Given the description of an element on the screen output the (x, y) to click on. 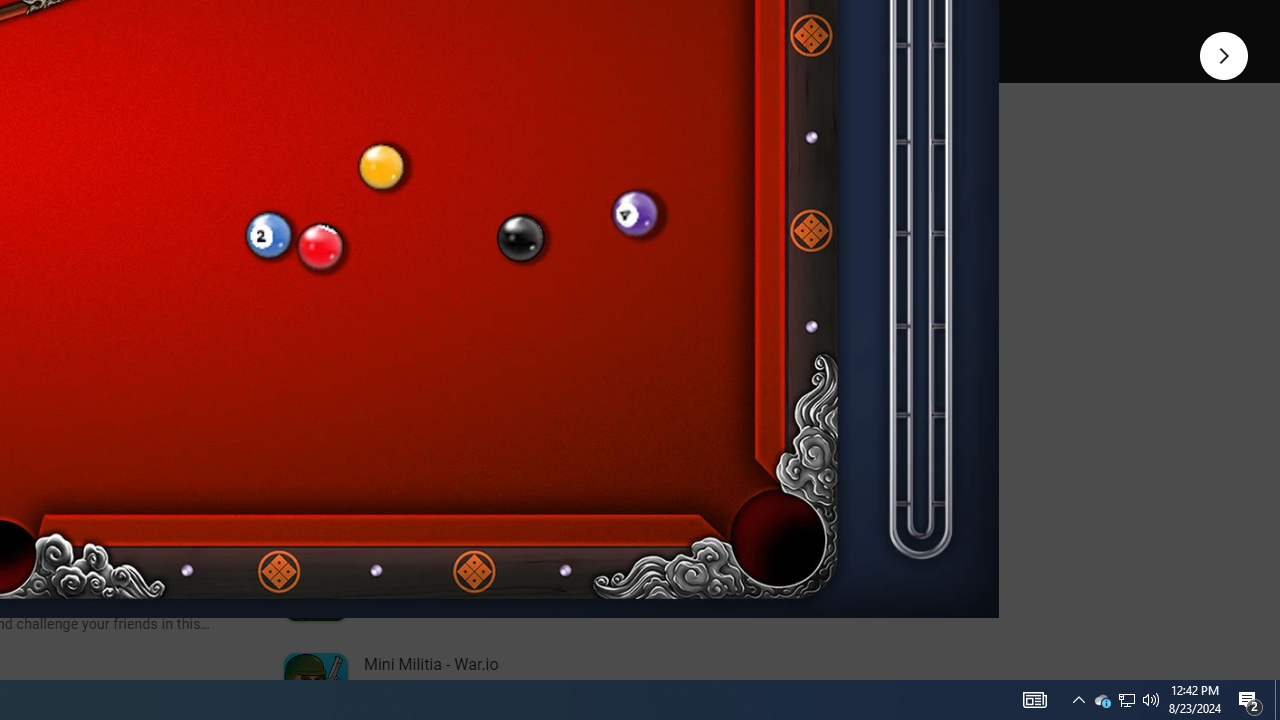
Expand (441, 155)
Scroll Next (212, 272)
See more information on More by Miniclip.com (530, 229)
Play trailer (587, 24)
